Given the description of an element on the screen output the (x, y) to click on. 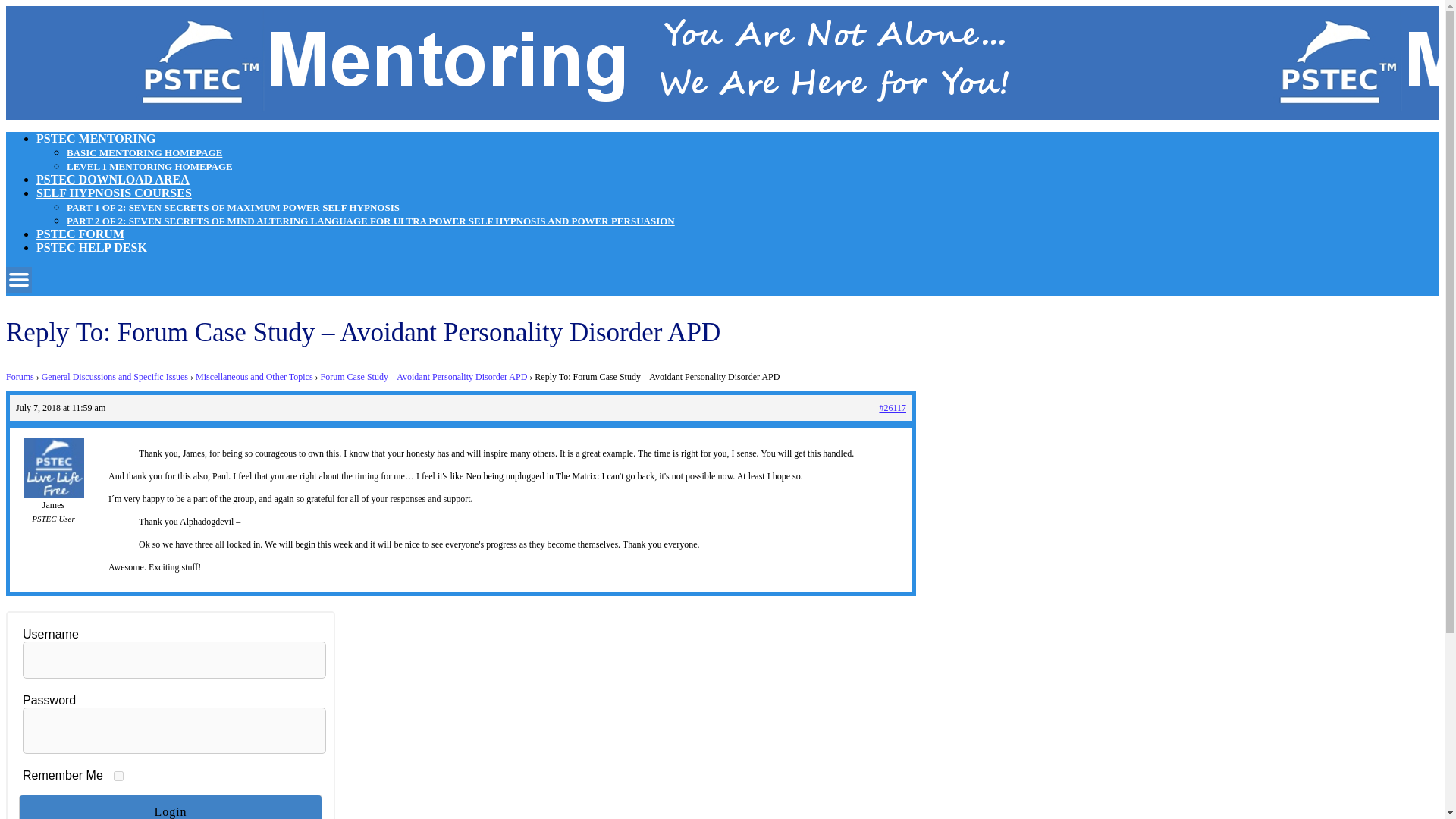
LEVEL 1 MENTORING HOMEPAGE (149, 165)
Miscellaneous and Other Topics (254, 376)
PSTEC DOWNLOAD AREA (112, 178)
Login (169, 806)
Login (169, 806)
PSTEC HELP DESK (91, 246)
PART 1 OF 2: SEVEN SECRETS OF MAXIMUM POWER SELF HYPNOSIS (232, 206)
Please enter password (174, 730)
PSTEC FORUM (79, 233)
General Discussions and Specific Issues (114, 376)
Yes (118, 776)
Please enter username (174, 659)
PSTEC MENTORING (95, 137)
Forums (19, 376)
